Given the description of an element on the screen output the (x, y) to click on. 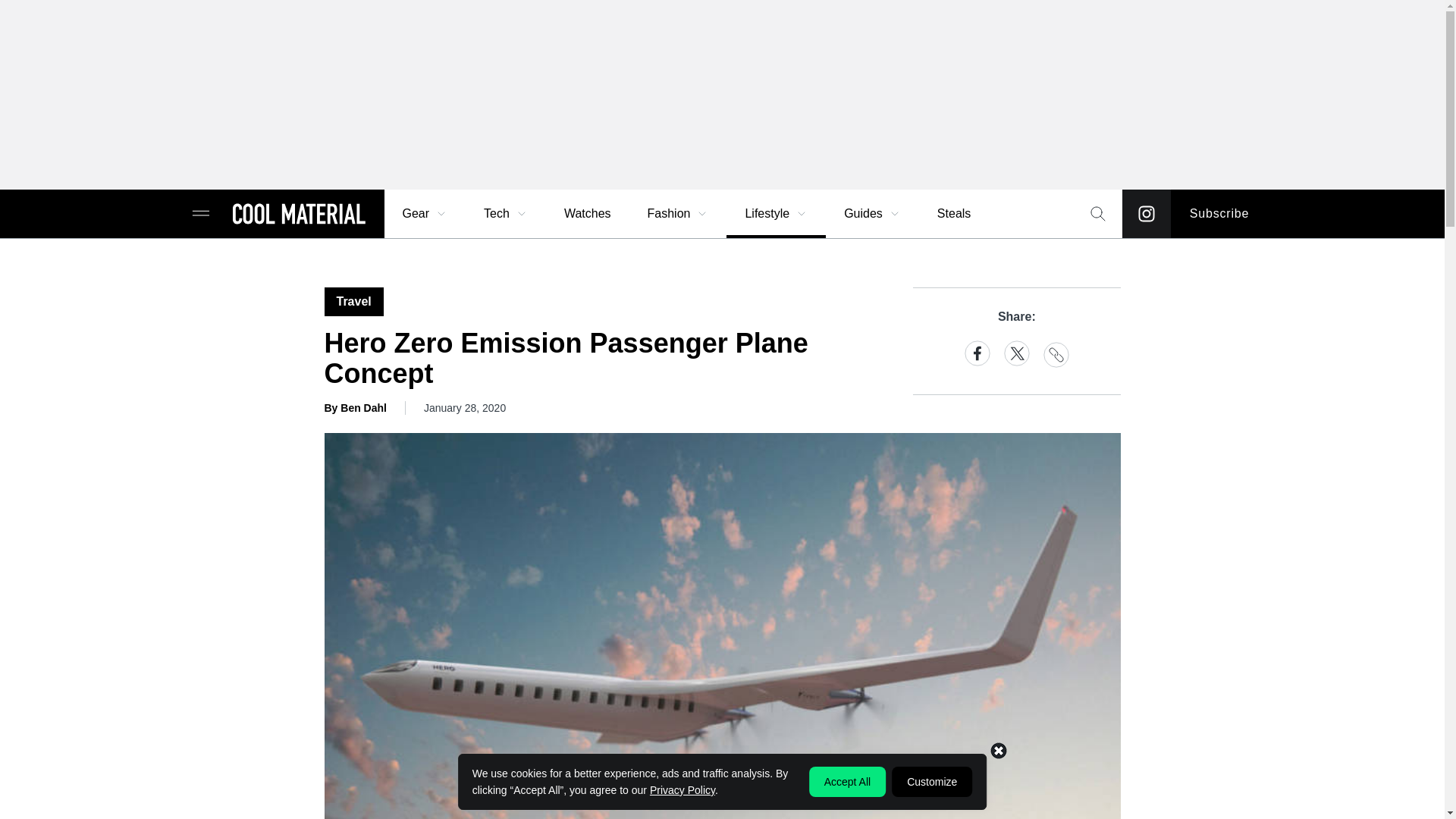
Gear (424, 213)
Fashion (677, 213)
Lifestyle (775, 213)
Tech (505, 213)
Privacy Policy (681, 789)
3rd party ad content (721, 94)
Watches (587, 213)
3rd party ad content (721, 785)
Customize (931, 781)
Accept All (847, 781)
